Given the description of an element on the screen output the (x, y) to click on. 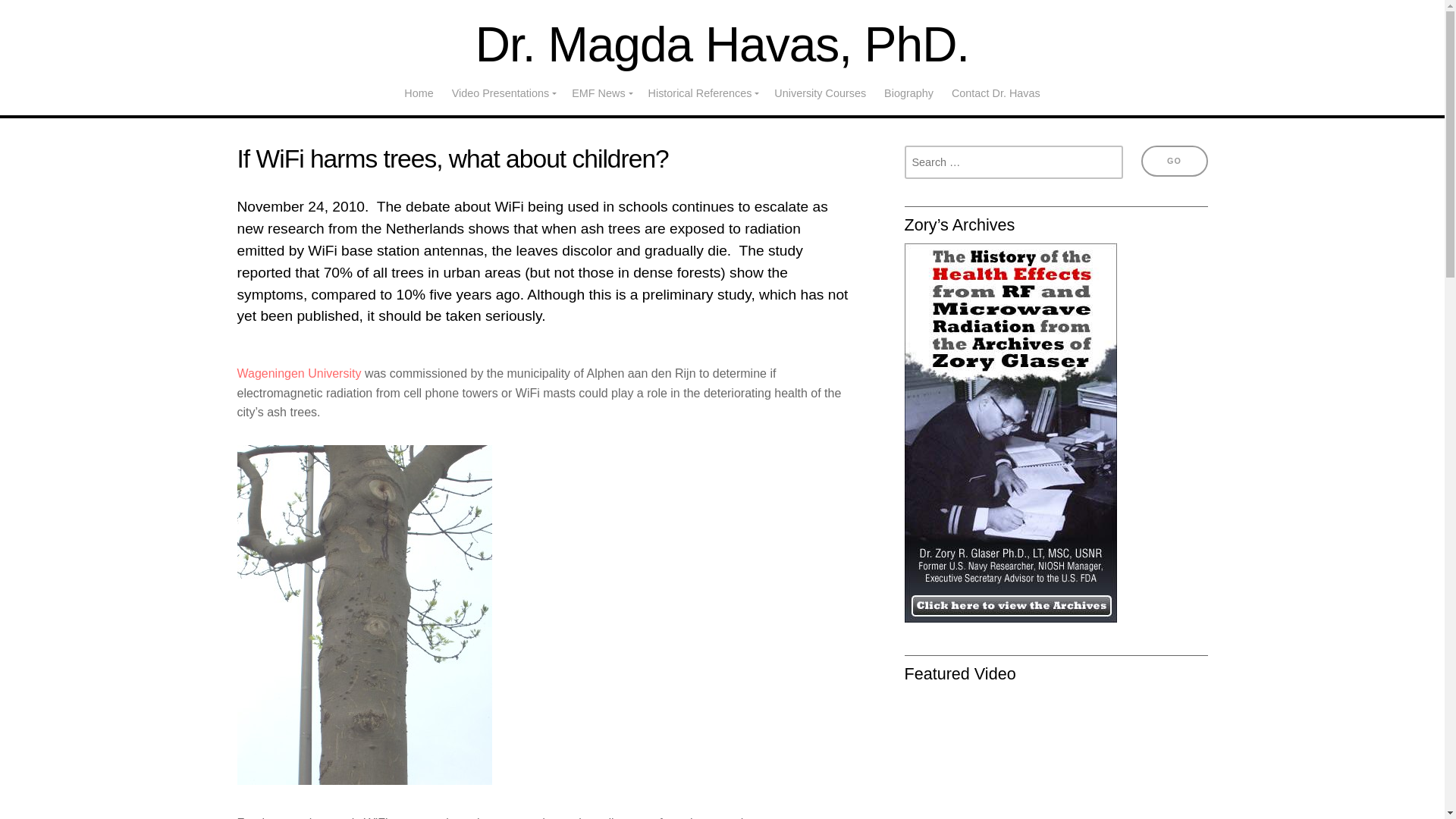
Historical References (702, 93)
Go (1173, 160)
EMF News (600, 93)
Dr. Magda Havas, PhD. (722, 44)
Home (418, 93)
Video Presentations (502, 93)
